Given the description of an element on the screen output the (x, y) to click on. 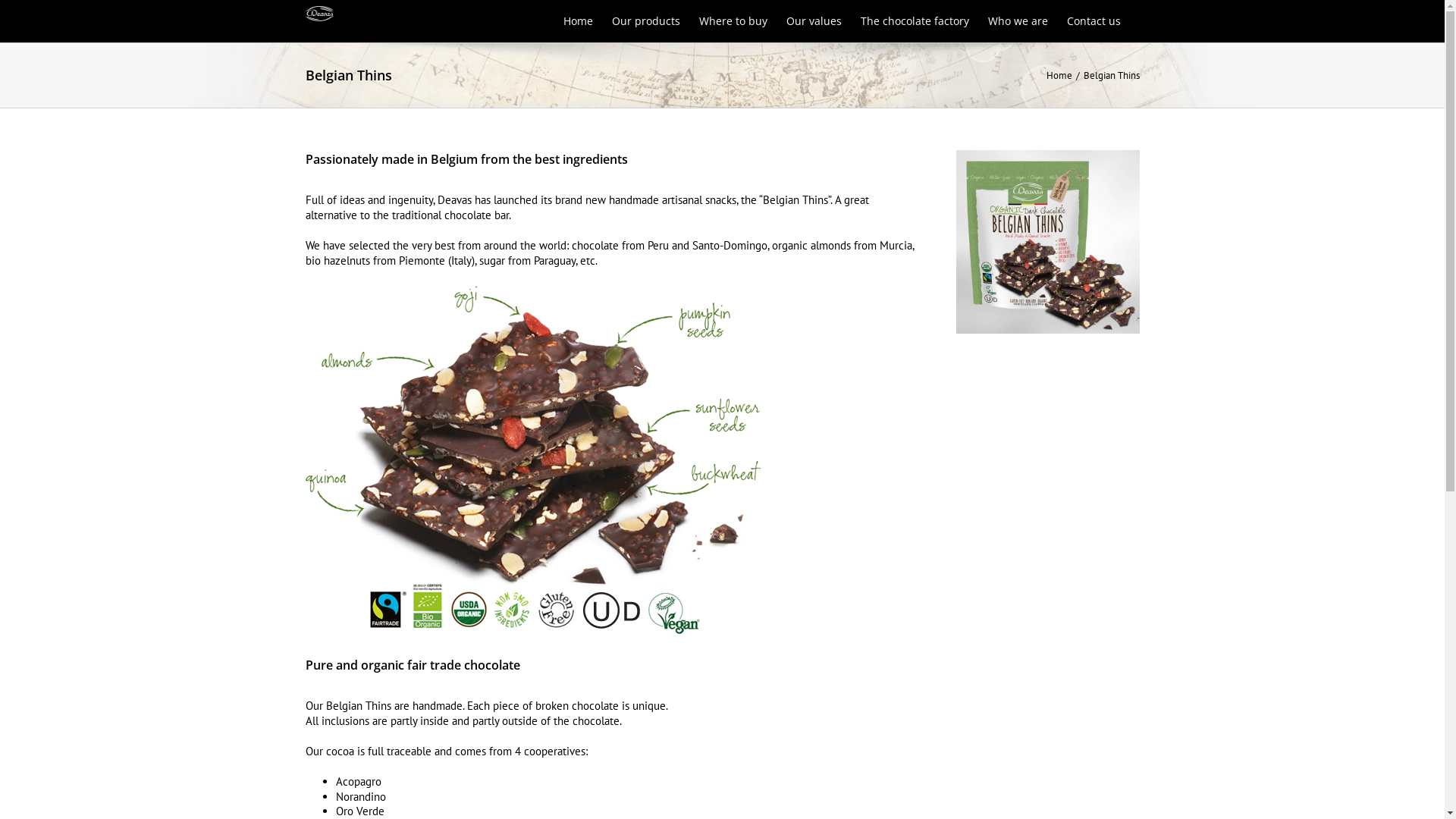
The chocolate factory Element type: text (913, 21)
Contact us Element type: text (1093, 21)
Home Element type: text (1059, 75)
belgian-thins-USA-dark-485g-bag-and-chocolate Element type: hover (1047, 241)
Where to buy Element type: text (733, 21)
Our products Element type: text (645, 21)
Who we are Element type: text (1017, 21)
belgian-thins-dark-ingredients Element type: hover (531, 468)
Home Element type: text (577, 21)
Our values Element type: text (812, 21)
